Given the description of an element on the screen output the (x, y) to click on. 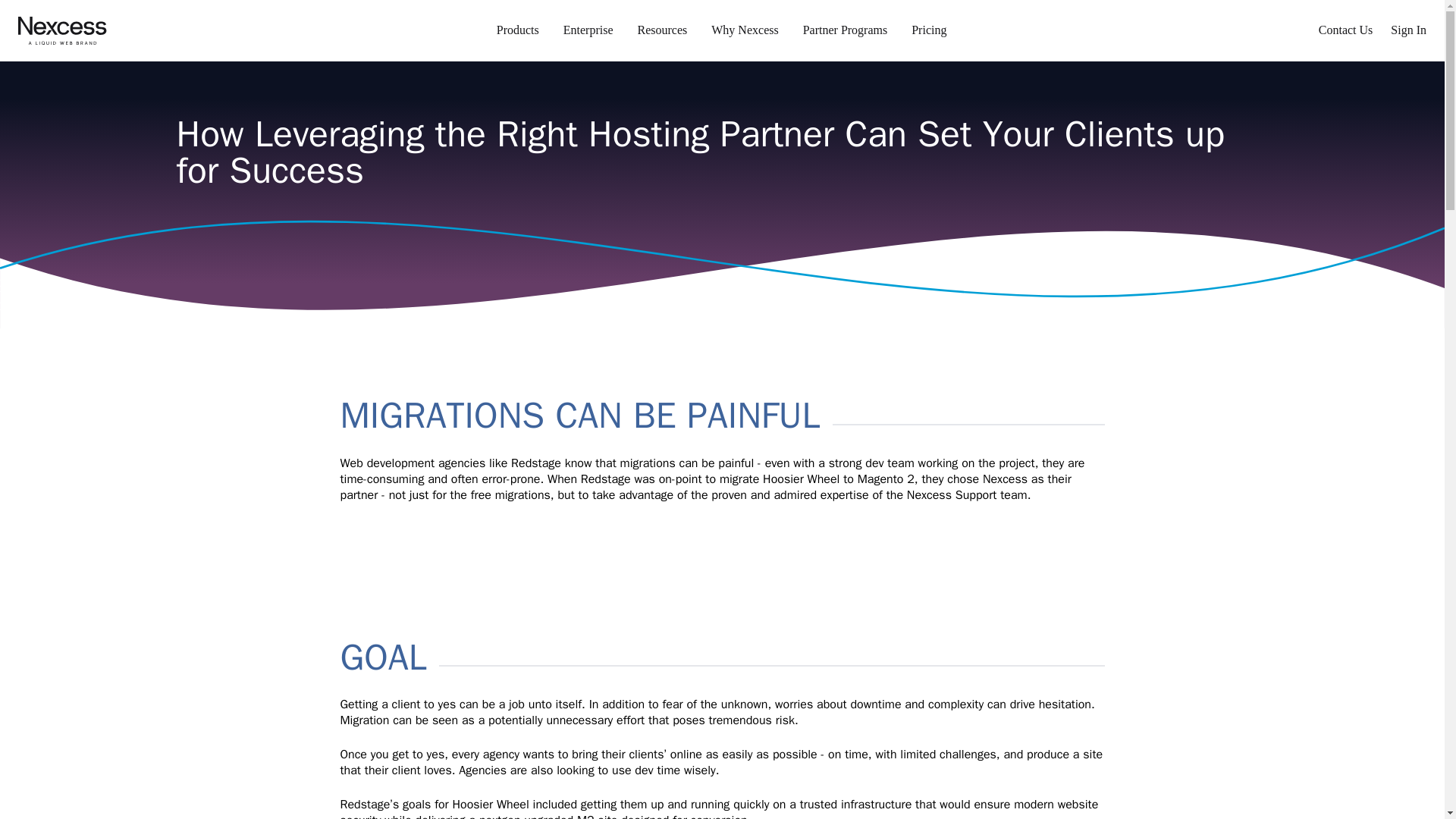
Why Nexcess (744, 30)
Enterprise (588, 30)
Partner Programs (844, 30)
Resources (661, 30)
